Given the description of an element on the screen output the (x, y) to click on. 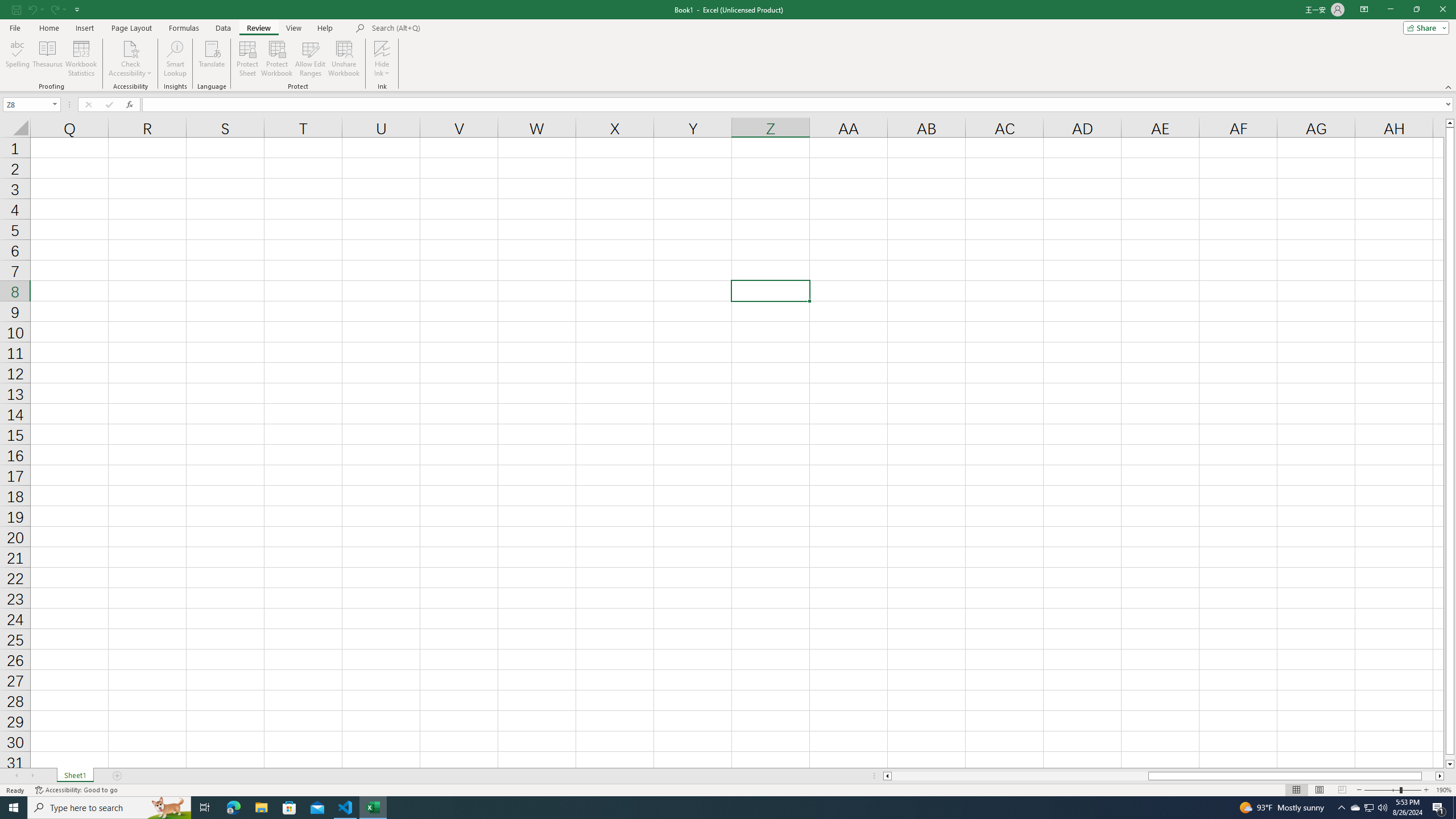
Protect Workbook... (277, 58)
Collapse the Ribbon (1448, 86)
Class: NetUIScrollBar (1163, 775)
Check Accessibility (129, 58)
Check Accessibility (129, 48)
Smart Lookup (175, 58)
Protect Sheet... (247, 58)
More Options (381, 68)
Page Break Preview (1342, 790)
Scroll Left (16, 775)
System (6, 6)
Page Layout (1318, 790)
Spelling... (17, 58)
Add Sheet (117, 775)
